Given the description of an element on the screen output the (x, y) to click on. 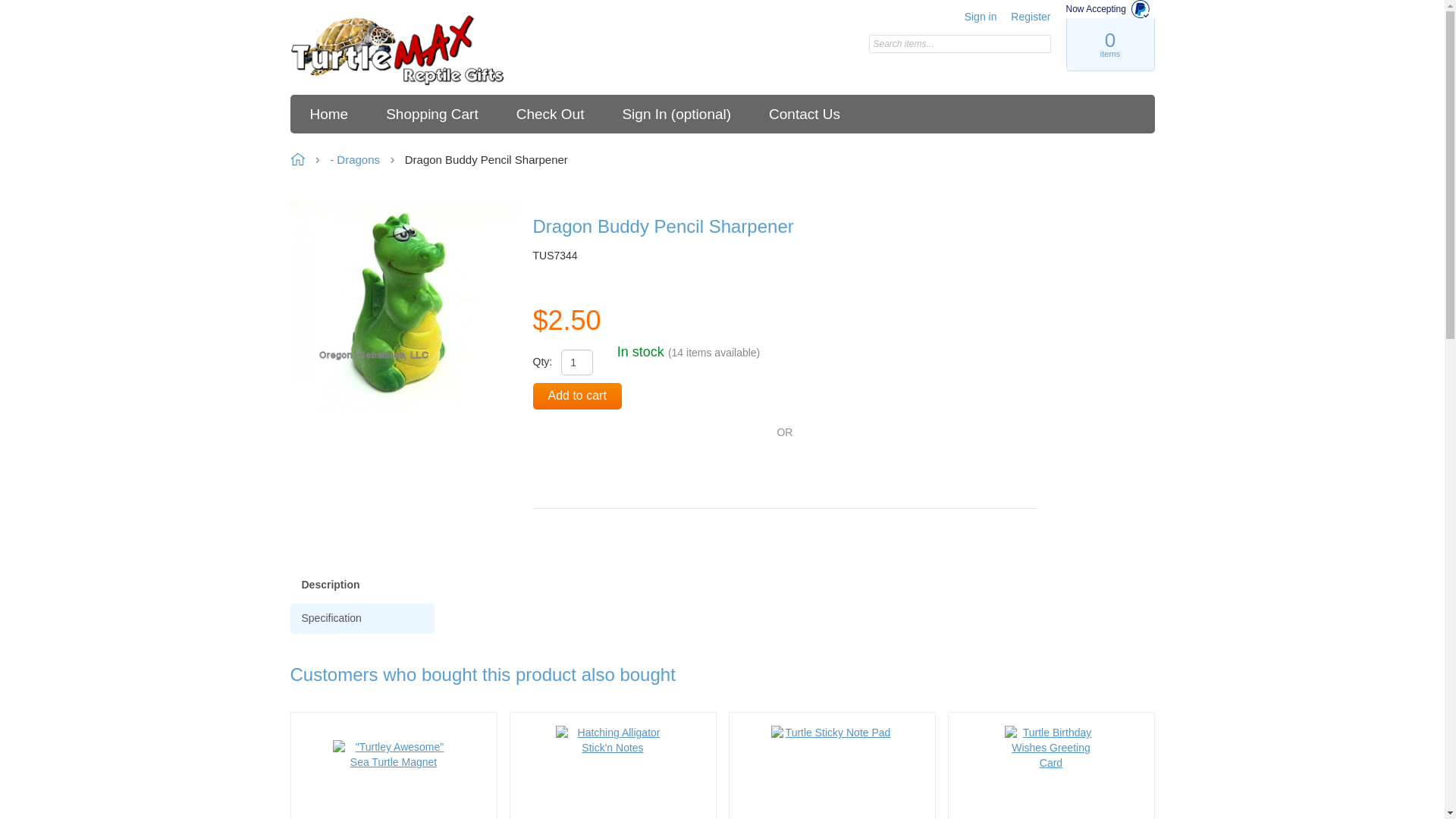
Home (397, 50)
1 (576, 362)
Search (1039, 43)
Quantity (576, 362)
Now Accepting PayPal (1109, 9)
Your cart (1109, 44)
